Given the description of an element on the screen output the (x, y) to click on. 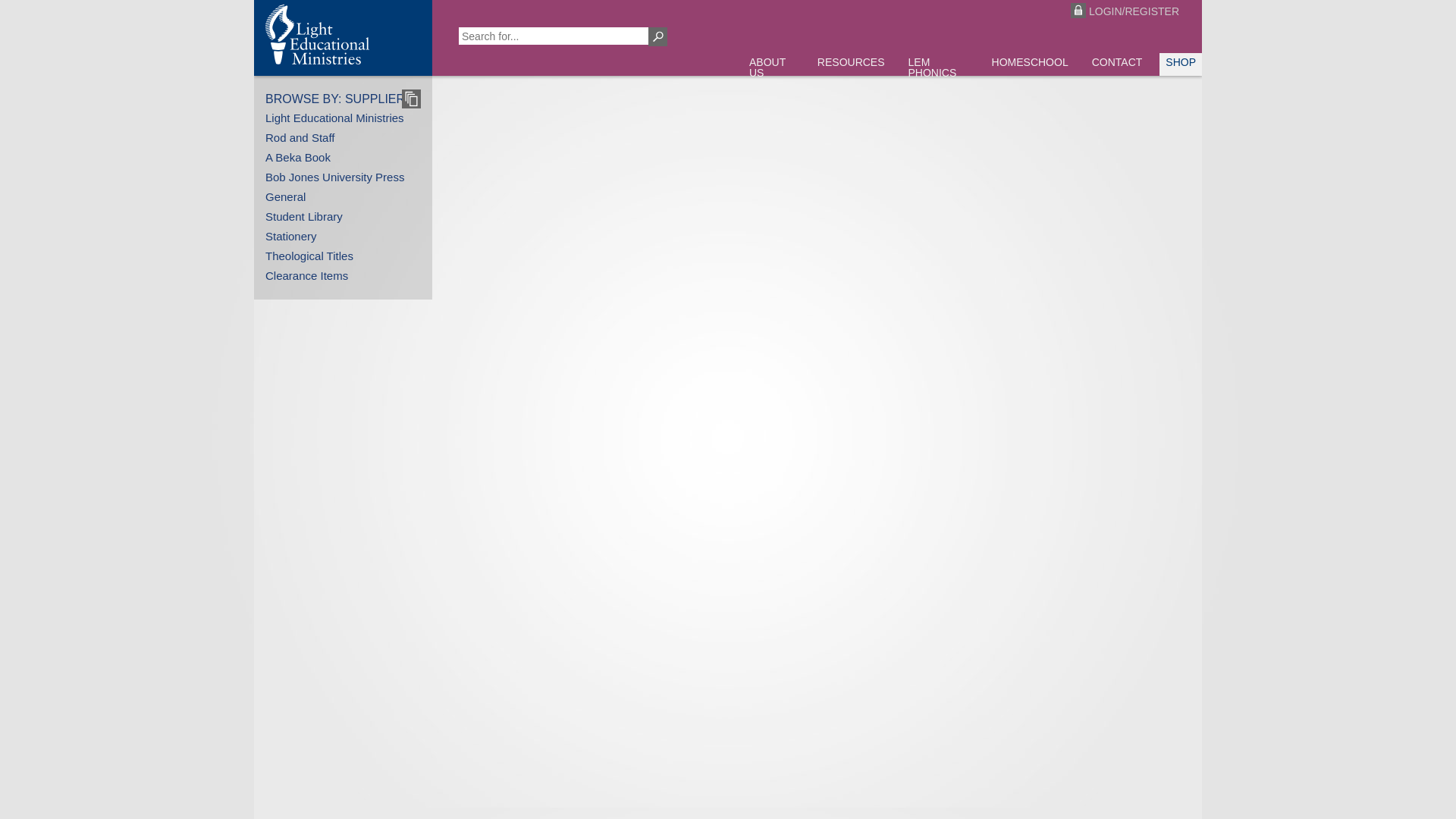
Student Library Element type: text (303, 216)
CONTACT Element type: text (1116, 64)
Bob Jones University Press Element type: text (334, 176)
Light Educational Ministries Element type: text (334, 117)
HOMESCHOOL Element type: text (1029, 64)
SHOP Element type: text (1180, 64)
Rod and Staff Element type: text (299, 137)
Clearance Items Element type: text (306, 275)
A Beka Book Element type: text (297, 156)
General Element type: text (285, 196)
ABOUT US Element type: text (771, 69)
Stationery Element type: text (290, 235)
 LOGIN/REGISTER Element type: text (1117, 11)
LEM PHONICS Element type: text (938, 69)
RESOURCES Element type: text (851, 64)
SEARCH Element type: text (657, 36)
Theological Titles Element type: text (309, 255)
